Given the description of an element on the screen output the (x, y) to click on. 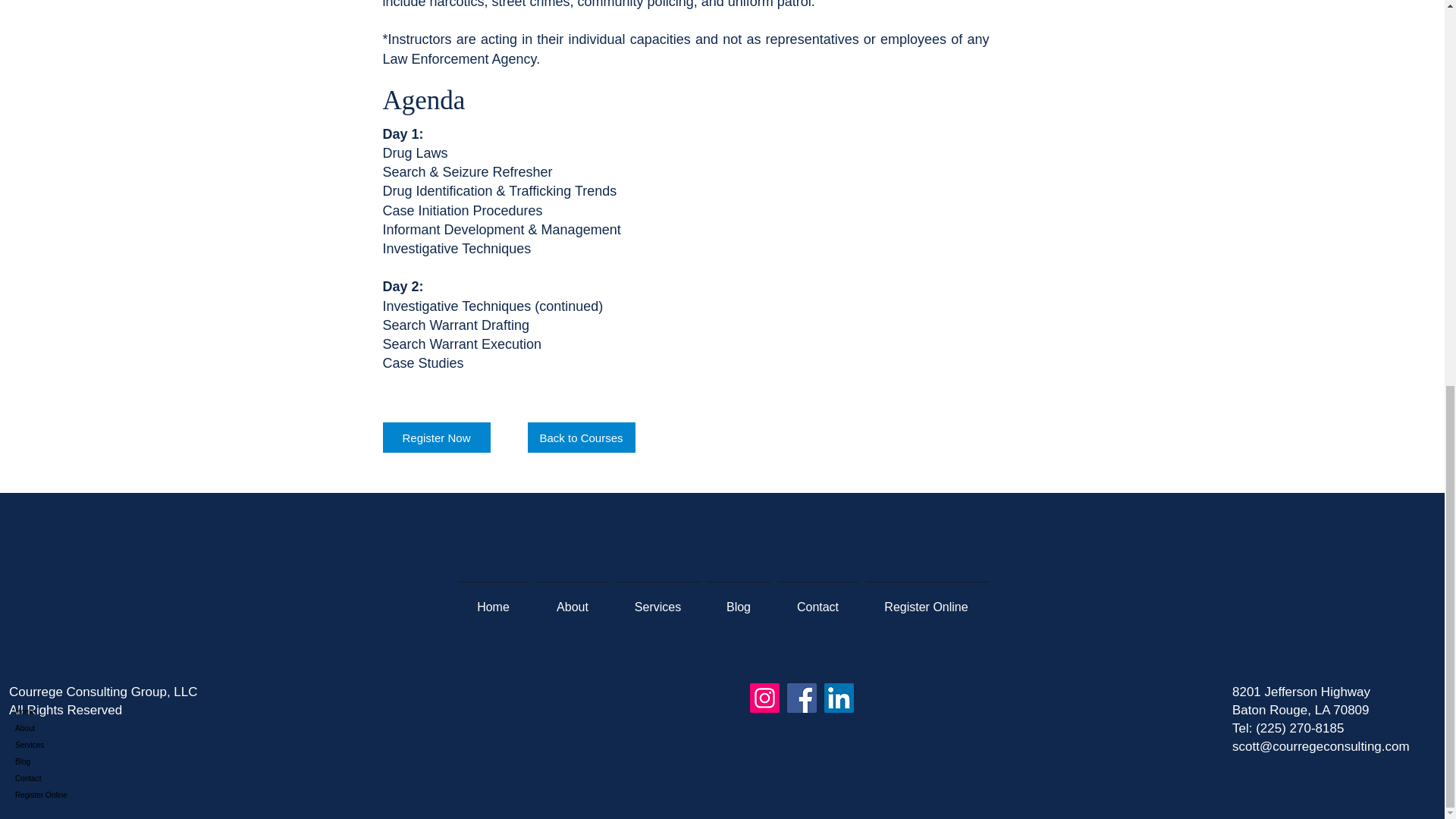
Blog (68, 33)
Register Online (925, 600)
Home (492, 600)
Register Now (435, 437)
Courrege Consulting Group, LLC (103, 691)
Contact (817, 600)
Back to Courses (580, 437)
Contact (68, 50)
About (571, 600)
Register Online (68, 67)
Blog (738, 600)
About (68, 4)
